Given the description of an element on the screen output the (x, y) to click on. 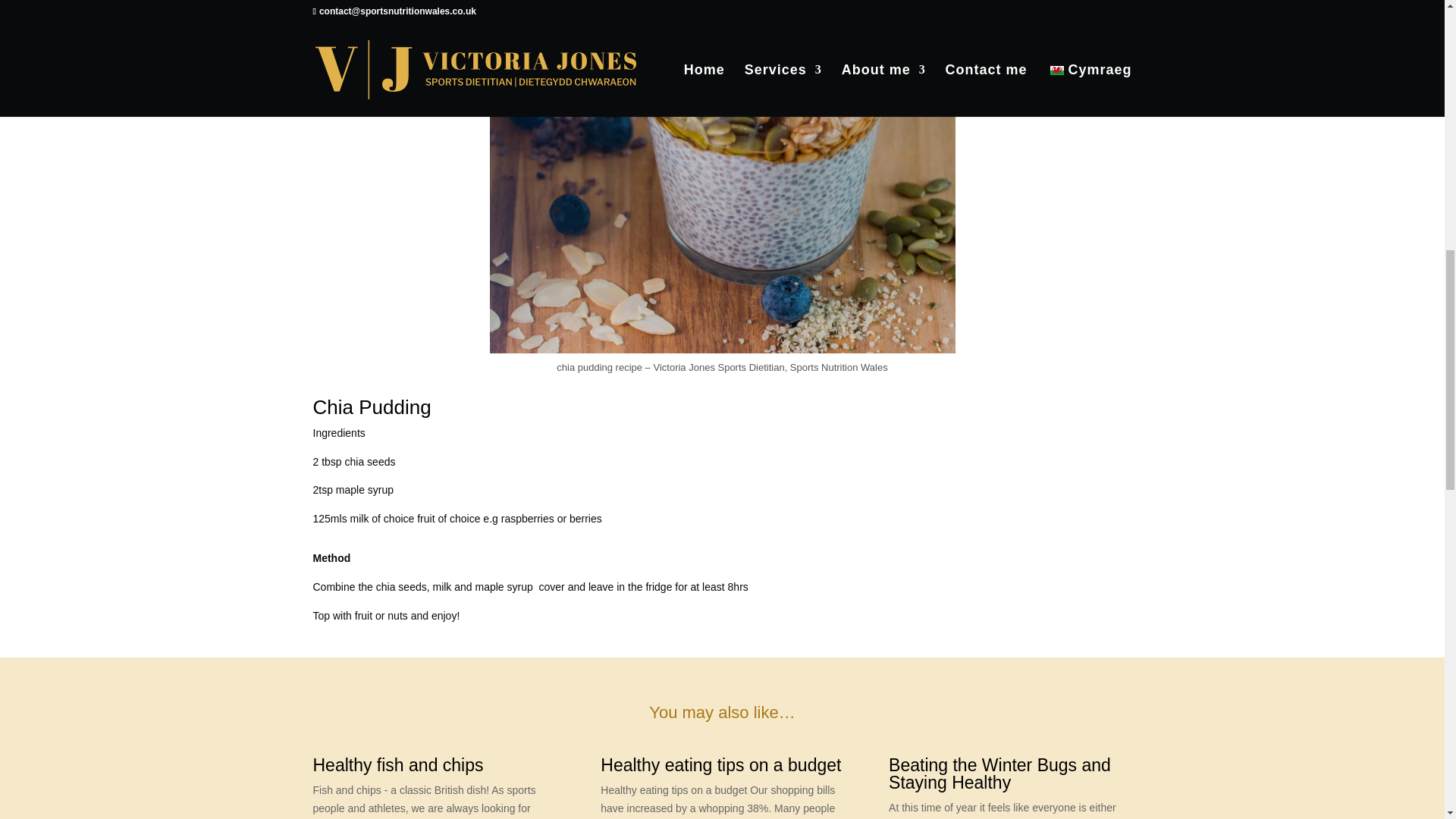
Beating the Winter Bugs and Staying Healthy (999, 773)
Healthy eating tips on a budget (720, 764)
Healthy fish and chips (398, 764)
